Given the description of an element on the screen output the (x, y) to click on. 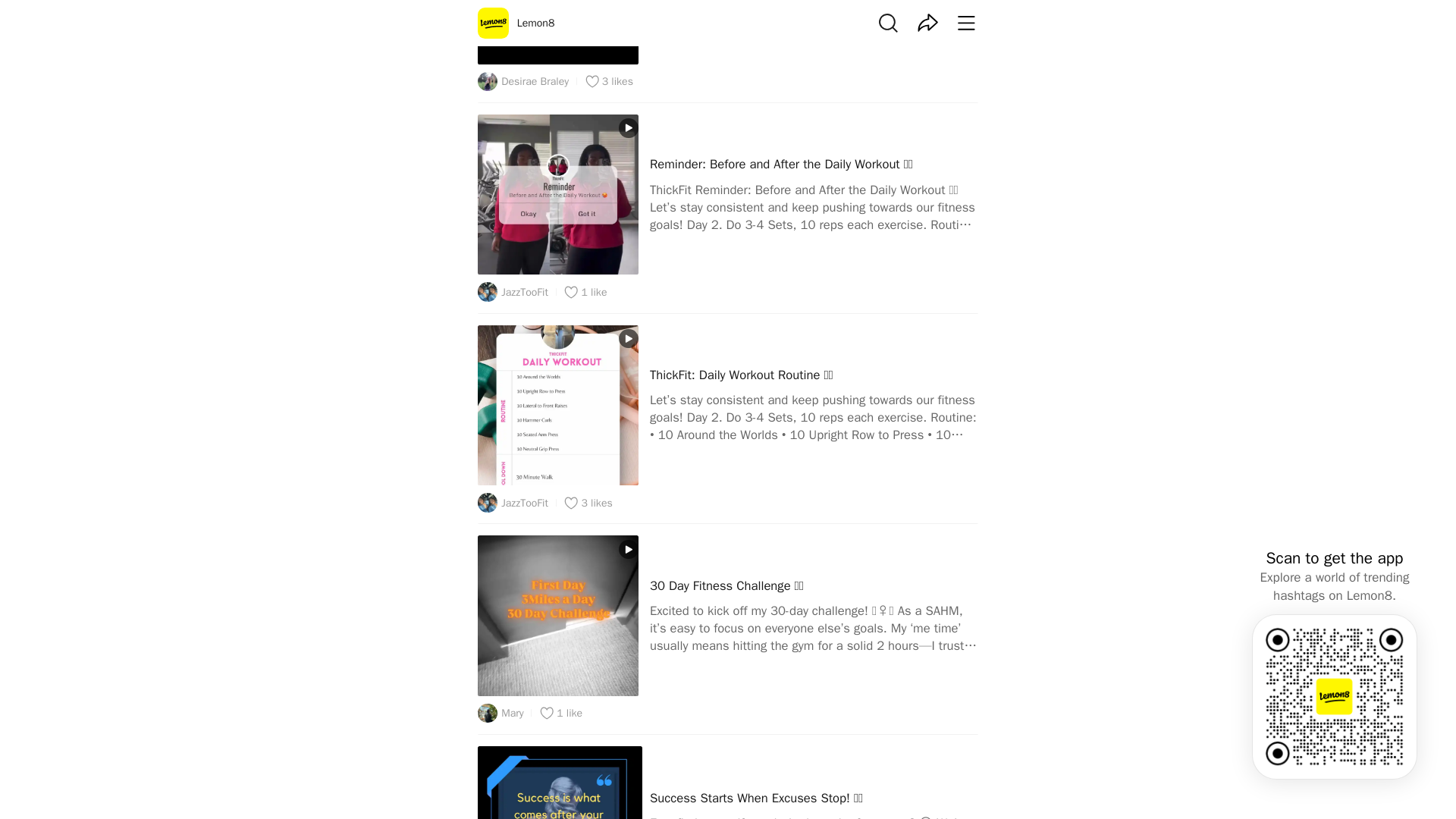
Desirae Braley (523, 81)
JazzTooFit (512, 291)
JazzTooFit (512, 502)
